Given the description of an element on the screen output the (x, y) to click on. 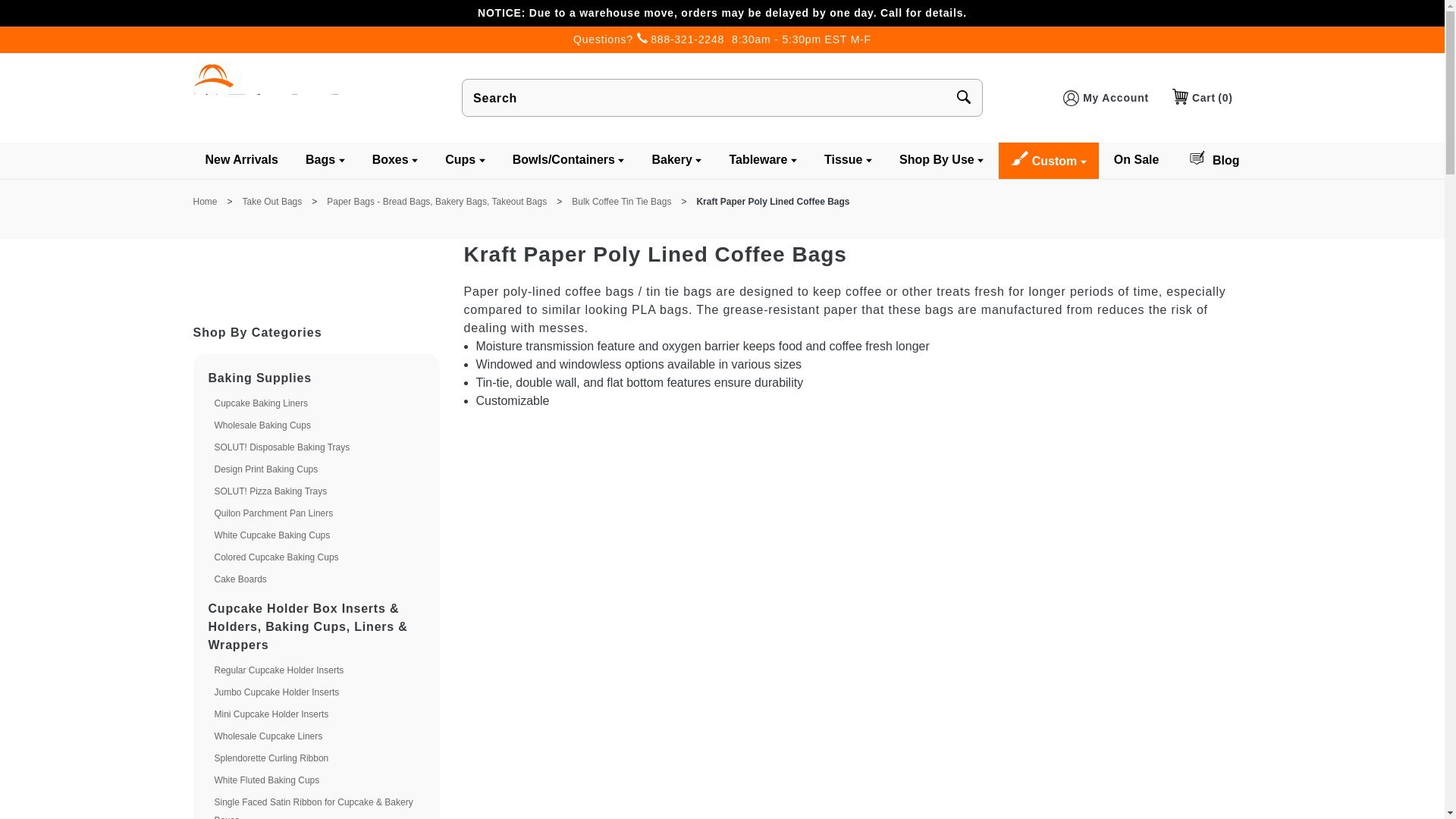
Take Out Bags (272, 201)
MrTakeOutBags (292, 96)
Paper Bags - Bread Bags, Bakery Bags, Takeout Bags (436, 201)
Bulk Coffee Tin Tie Bags (621, 201)
888-321-2248 (686, 39)
Search (706, 98)
My Account (1114, 98)
Home (204, 201)
MrTakeOutBags.com Logo (292, 97)
